Given the description of an element on the screen output the (x, y) to click on. 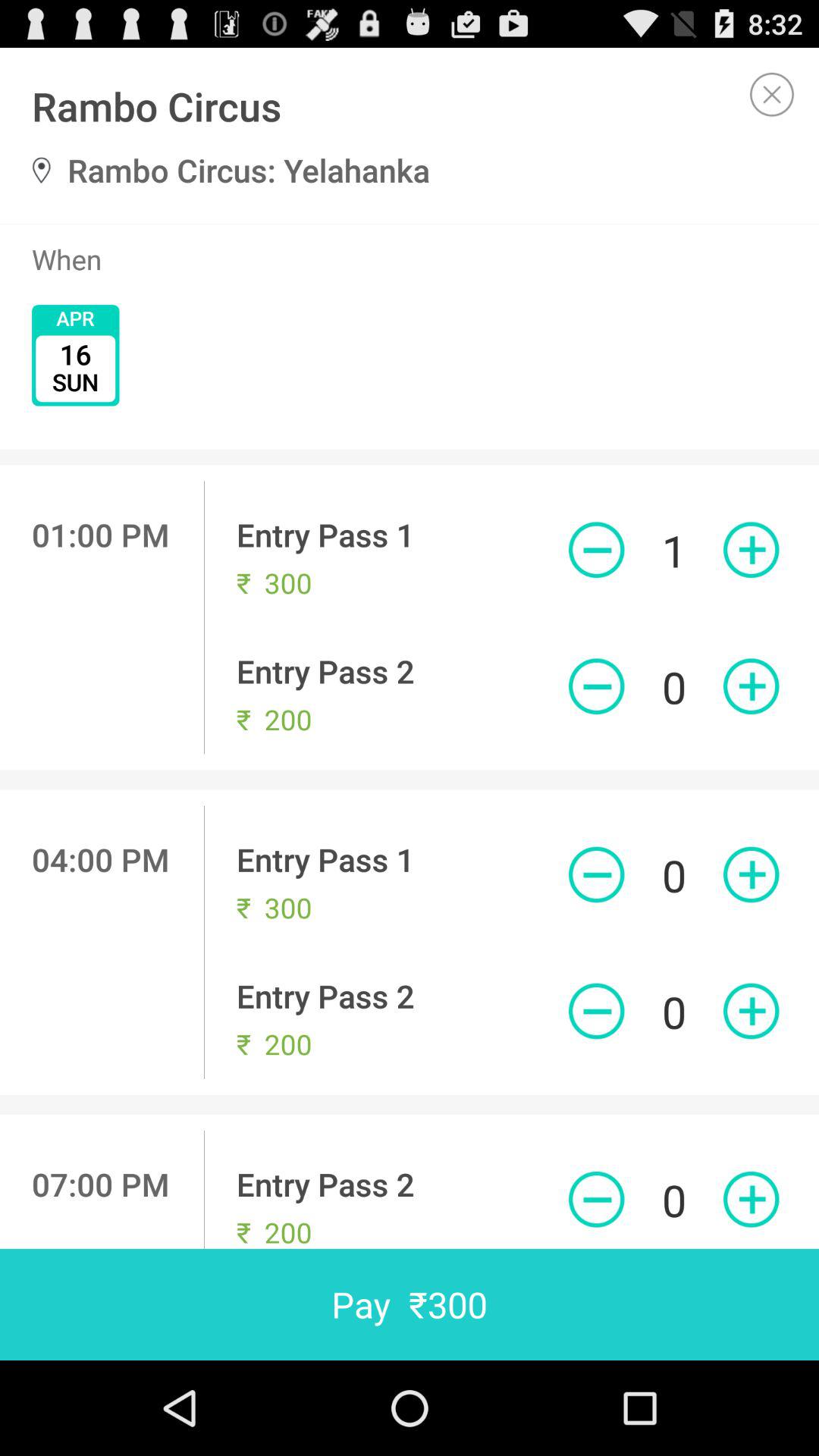
add one (751, 874)
